Given the description of an element on the screen output the (x, y) to click on. 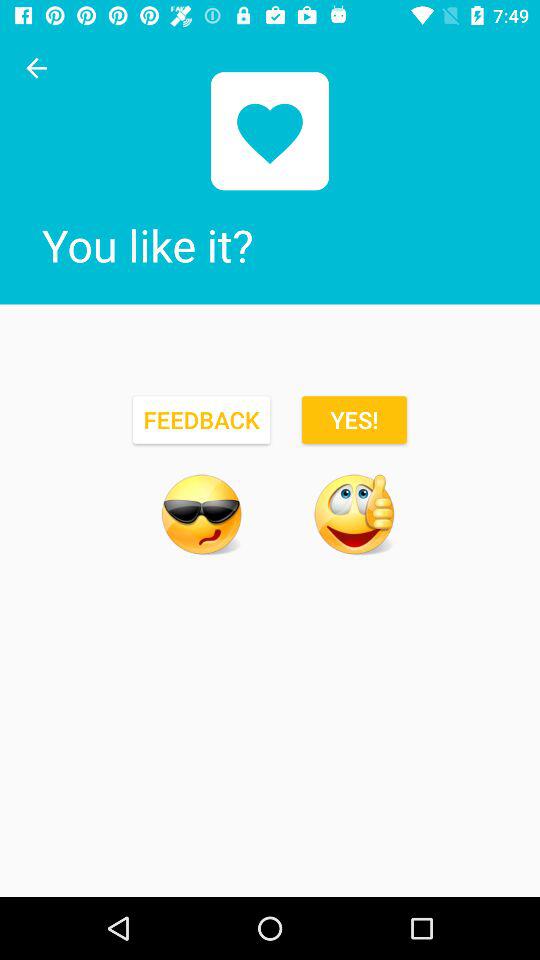
like button (354, 514)
